Given the description of an element on the screen output the (x, y) to click on. 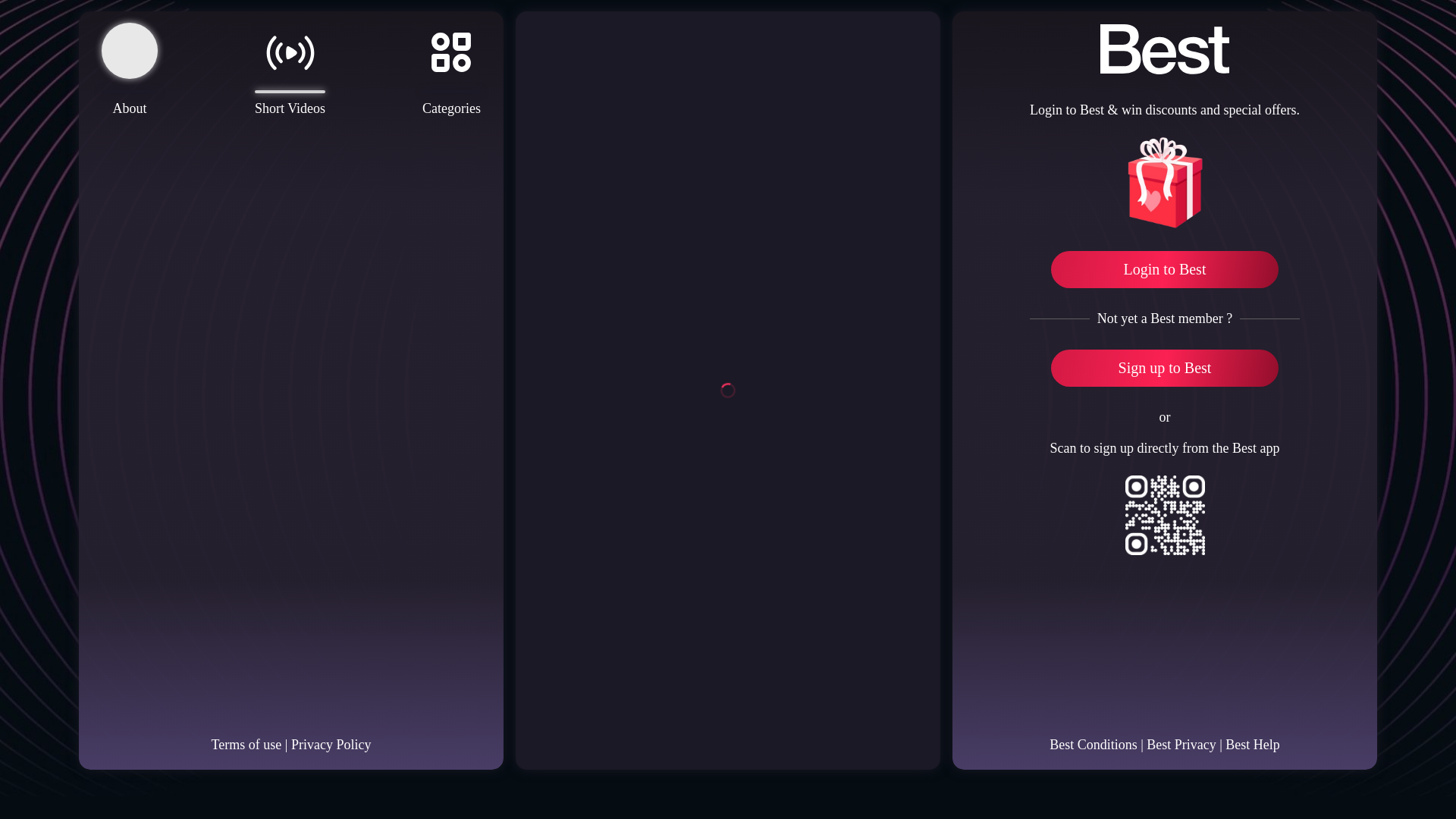
Login to Best (1165, 269)
Sign up to Best (1165, 367)
Best Help (1252, 744)
